Given the description of an element on the screen output the (x, y) to click on. 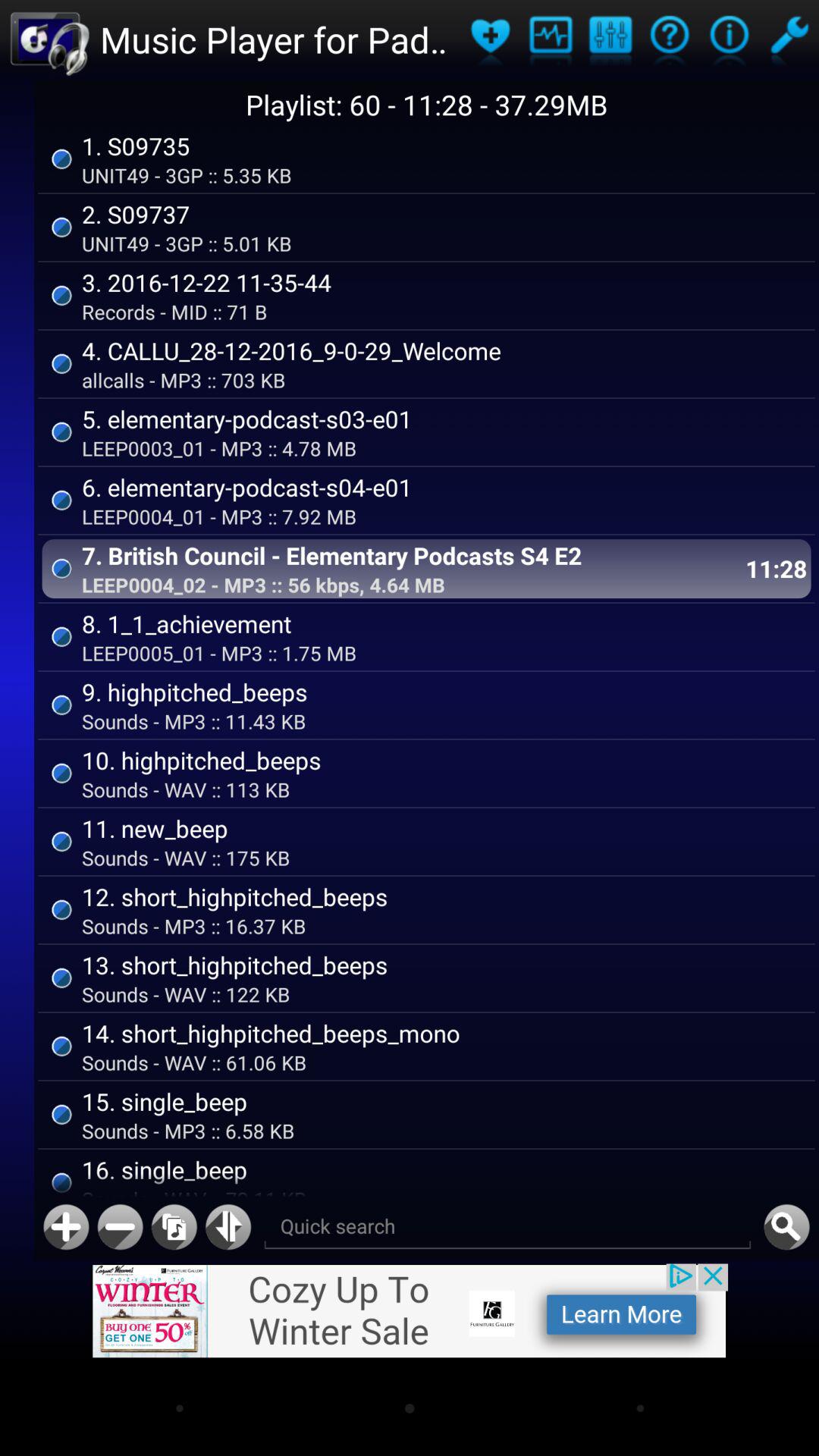
view detail (729, 39)
